Given the description of an element on the screen output the (x, y) to click on. 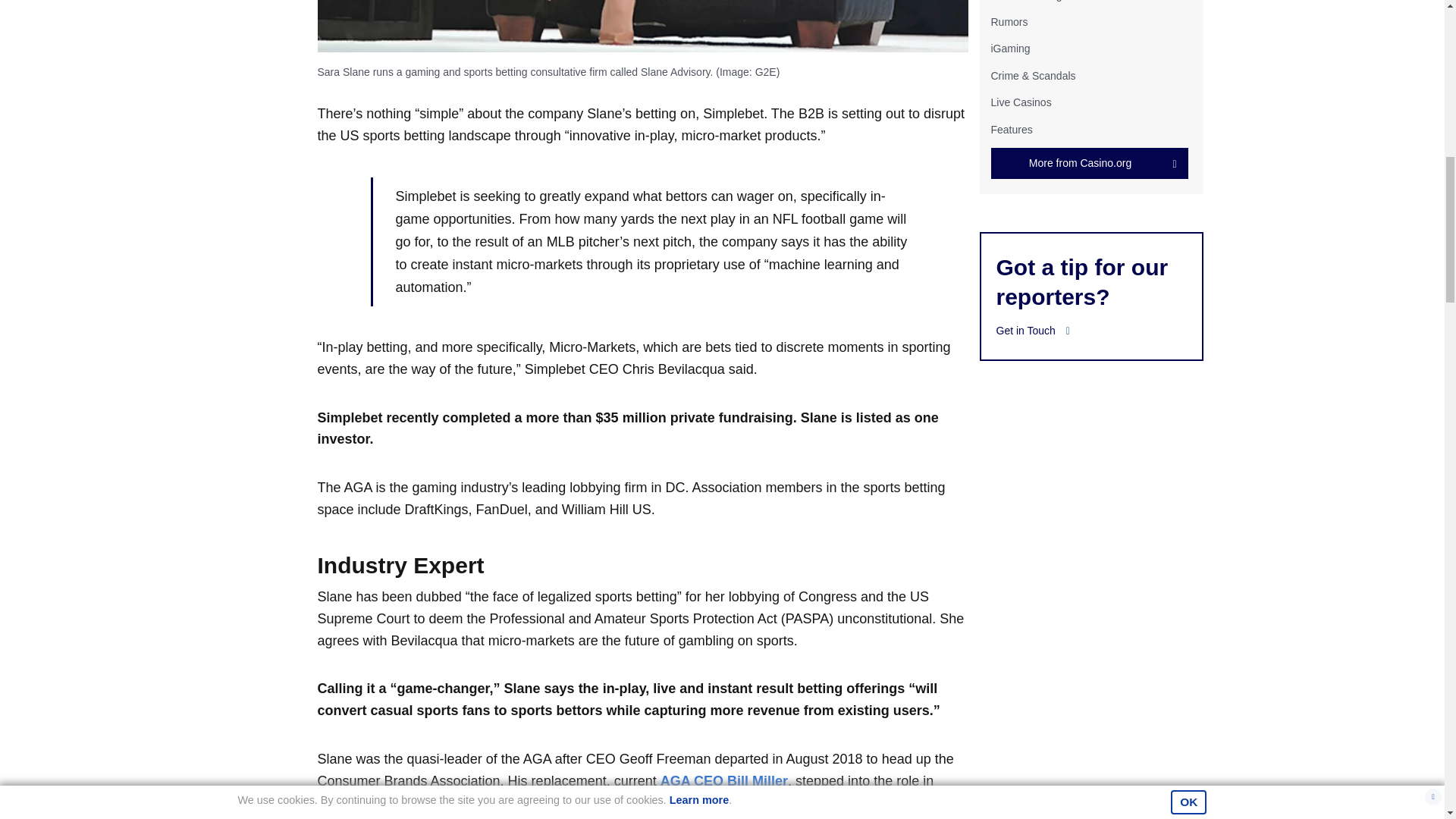
Live Casinos (1020, 102)
Rumors (1008, 21)
AGA CEO Bill Miller (724, 780)
iGaming (1009, 48)
Features (1011, 128)
Mobile Gaming (1025, 0)
